Given the description of an element on the screen output the (x, y) to click on. 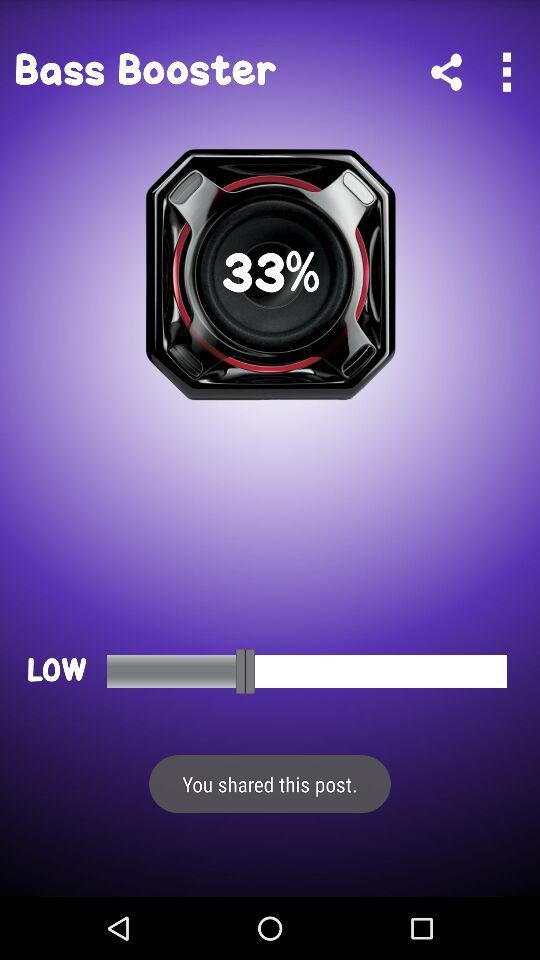
link/share app (446, 72)
